Given the description of an element on the screen output the (x, y) to click on. 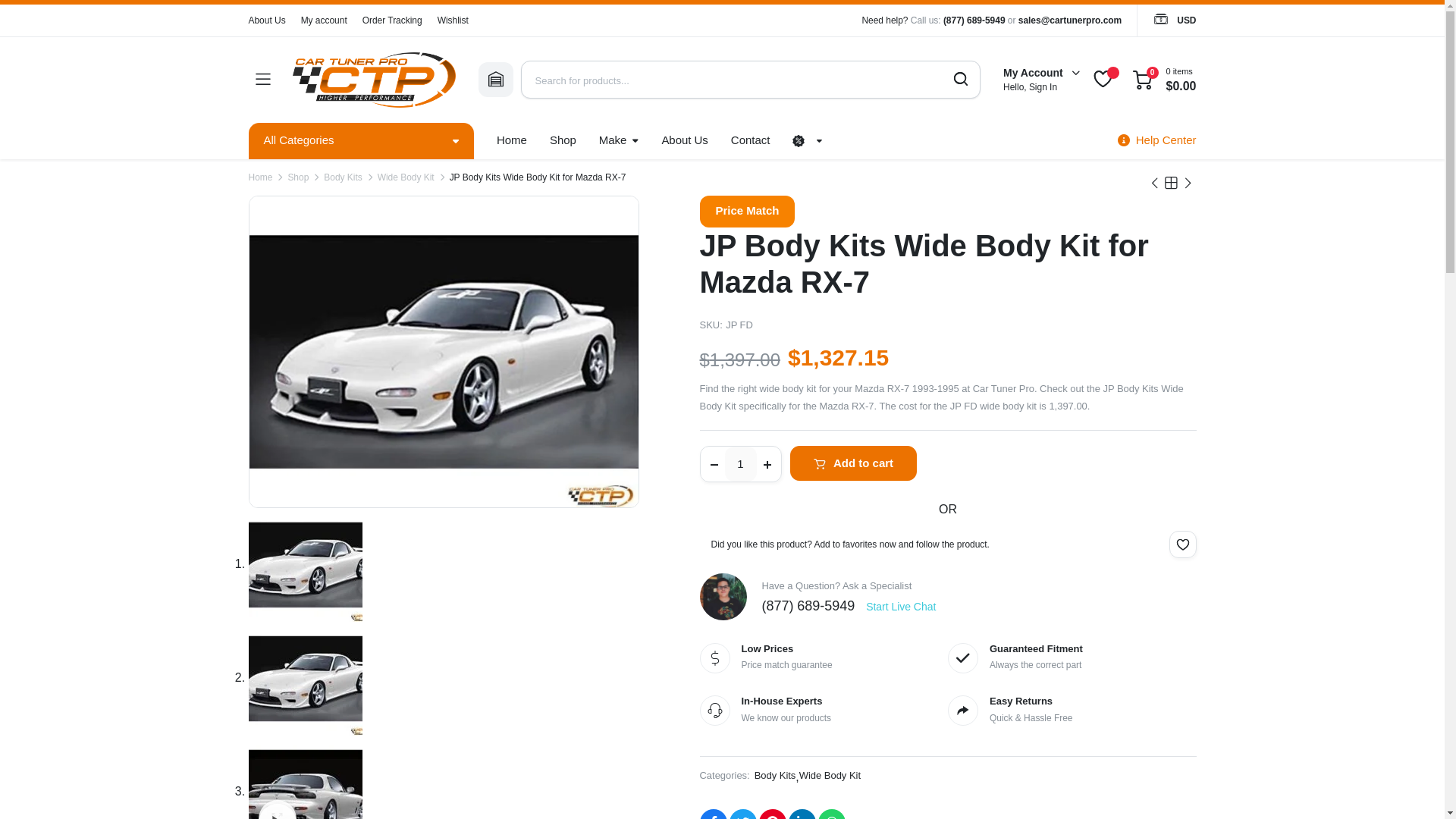
Car Tuner Pro (373, 79)
Shop (563, 140)
1 (741, 463)
Home (511, 140)
Wishlist (453, 20)
Order Tracking (392, 20)
Deals (563, 140)
Make (619, 140)
USD (1174, 20)
JP Body Kits Wide Body Kit for Mazda RX-7 1993-1995 (443, 351)
